Given the description of an element on the screen output the (x, y) to click on. 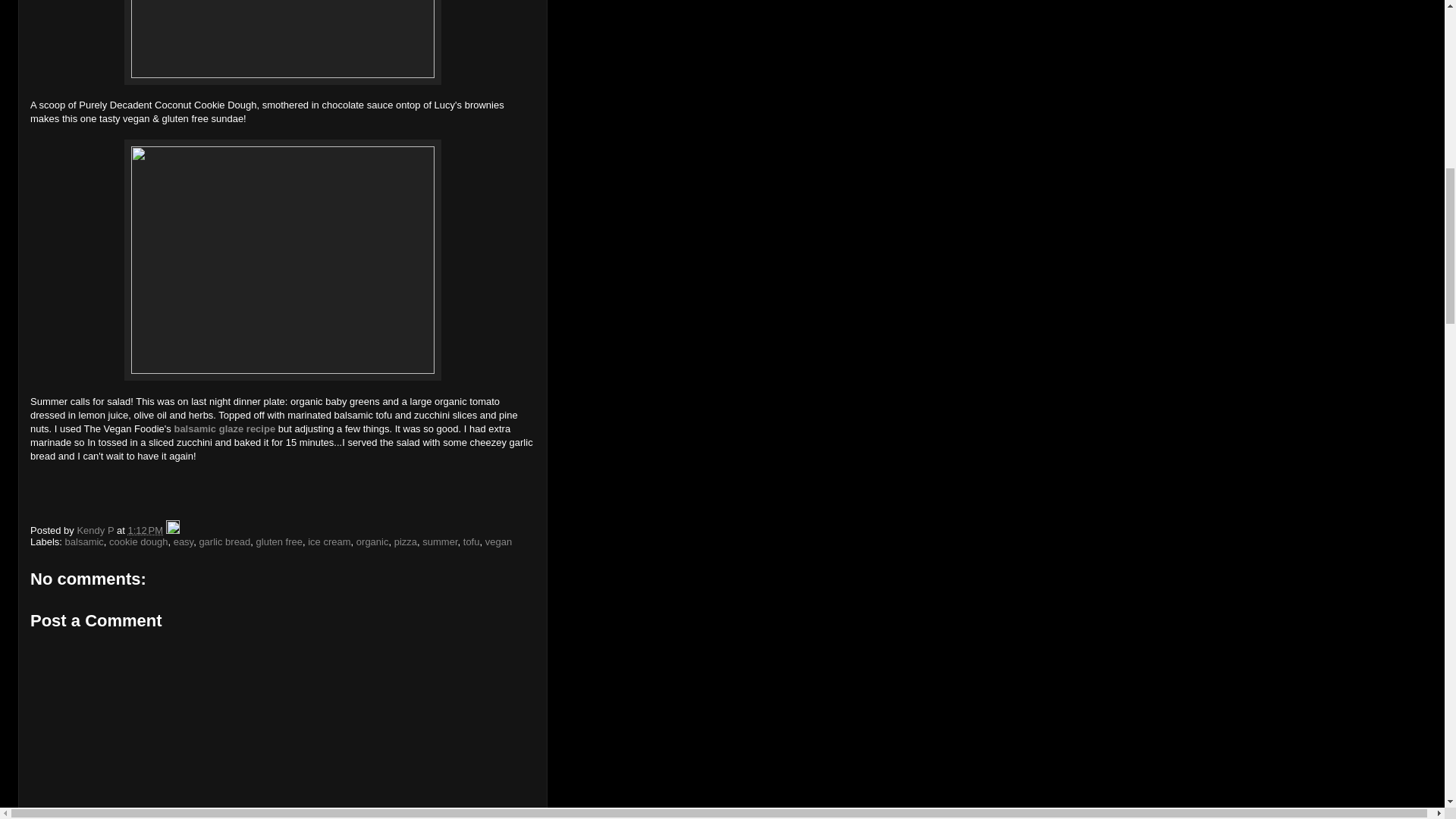
ice cream (328, 541)
cookie dough (138, 541)
Edit Post (172, 530)
permanent link (145, 530)
pizza (405, 541)
summer (439, 541)
tofu (471, 541)
organic (372, 541)
balsamic (84, 541)
Kendy P (96, 530)
author profile (96, 530)
vegan (498, 541)
balsamic glaze recipe (224, 428)
easy (183, 541)
